Given the description of an element on the screen output the (x, y) to click on. 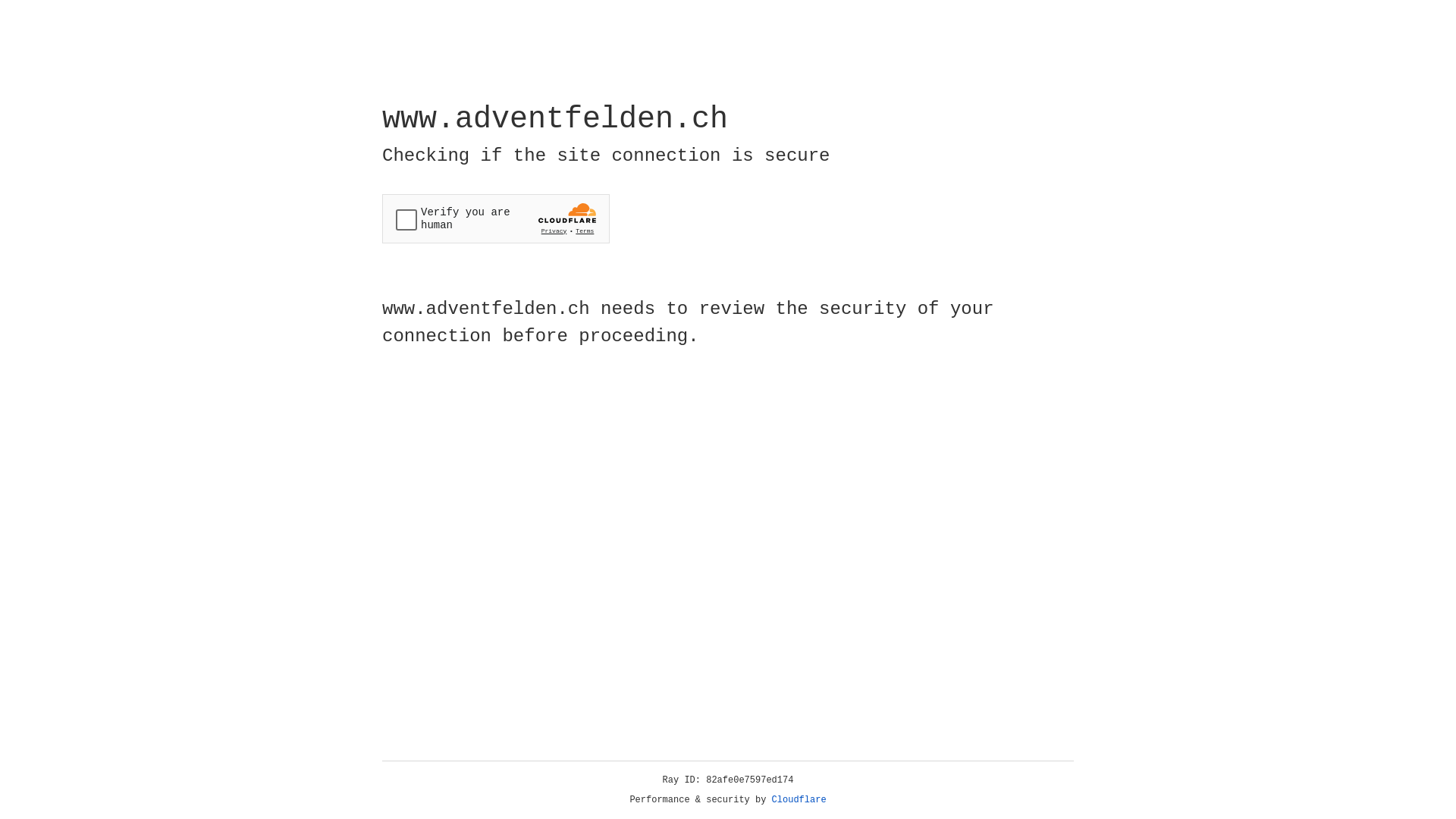
Widget containing a Cloudflare security challenge Element type: hover (495, 218)
Cloudflare Element type: text (798, 799)
